Given the description of an element on the screen output the (x, y) to click on. 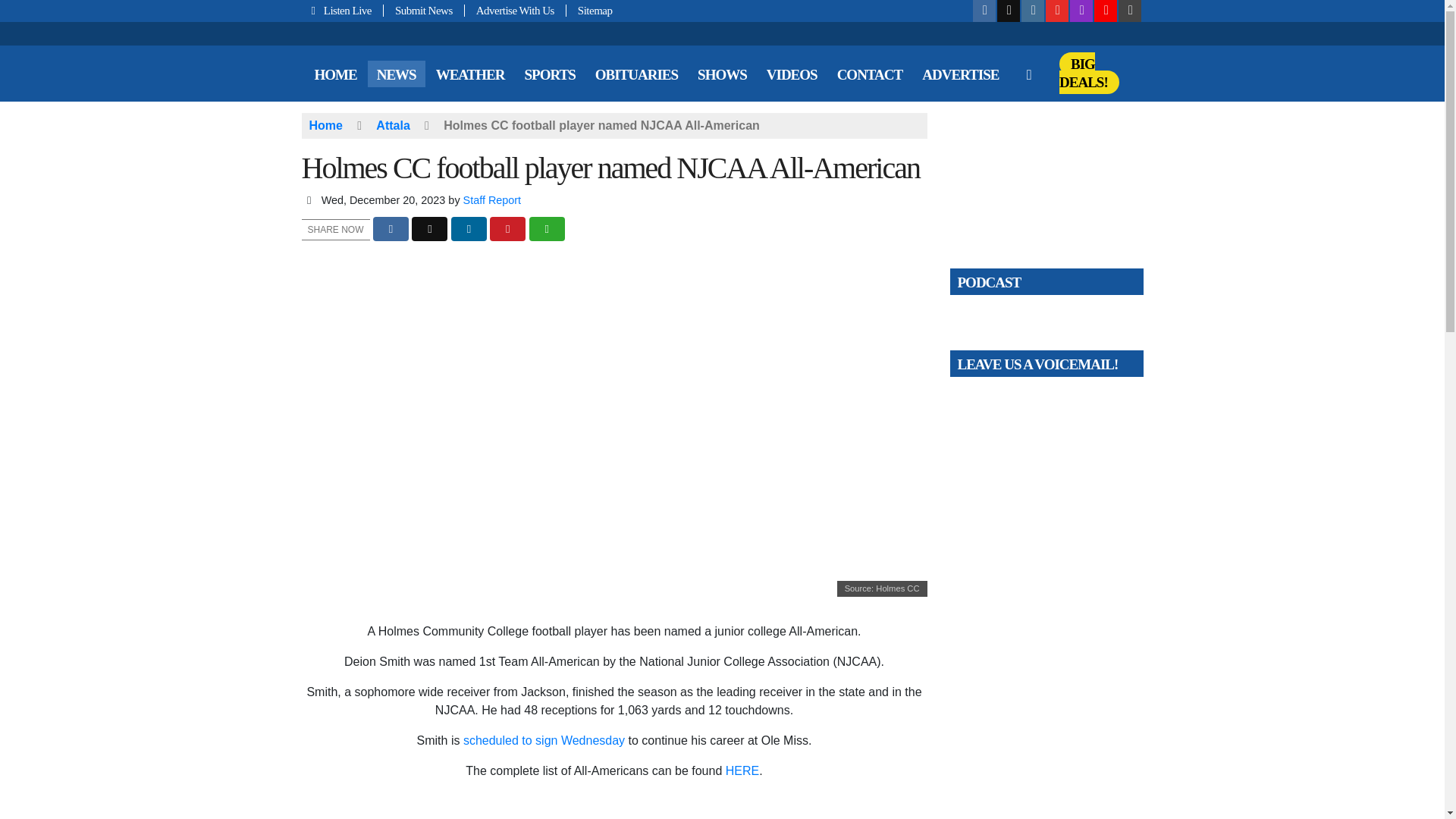
Follow us on Facebook (983, 11)
Submit News (424, 10)
Follow our Podcast (1081, 11)
Follow us on X (1008, 11)
Follow us on Instagram (1032, 11)
Sitemap (589, 10)
Advertise With Us (515, 10)
Listen Live (342, 10)
Follow us on Youtube (1056, 11)
Follow us on Soundcloud (1105, 11)
